Given the description of an element on the screen output the (x, y) to click on. 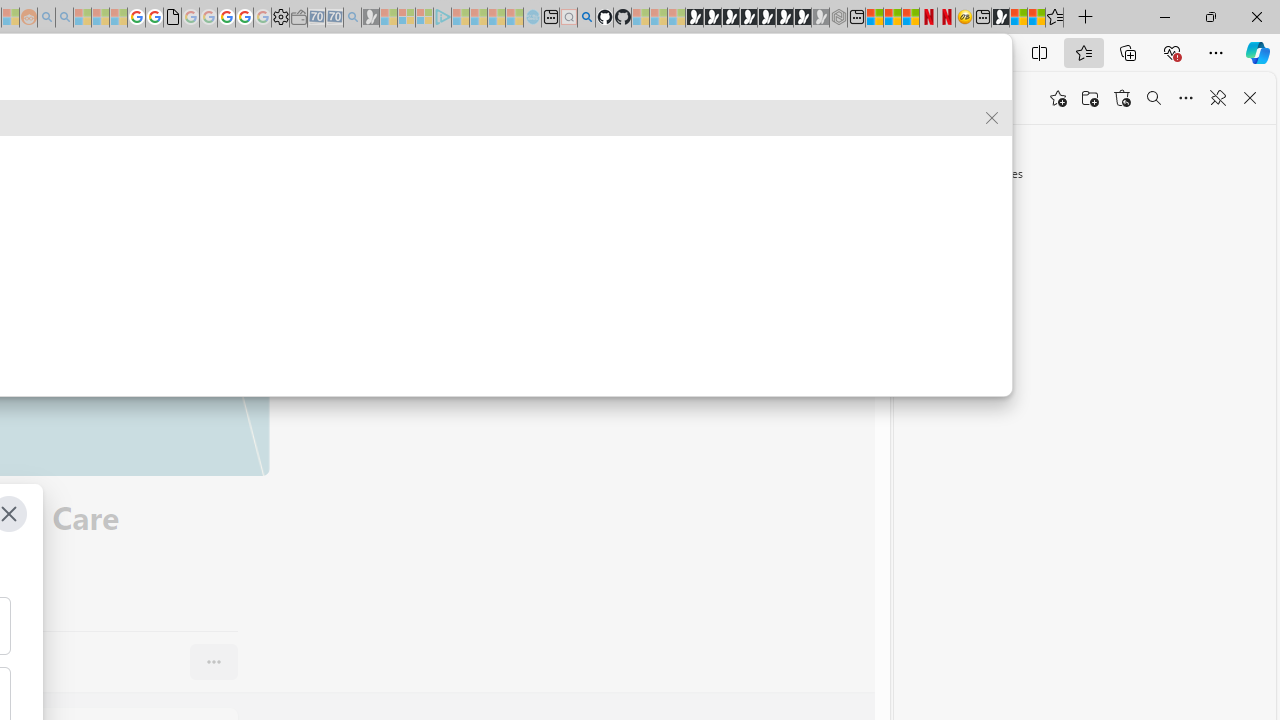
Password (534, 99)
Email or phone (338, 99)
google_privacy_policy_zh-CN.pdf (171, 17)
Add this page to favorites (1058, 98)
Unpin favorites (1217, 98)
Add folder (1089, 98)
